Given the description of an element on the screen output the (x, y) to click on. 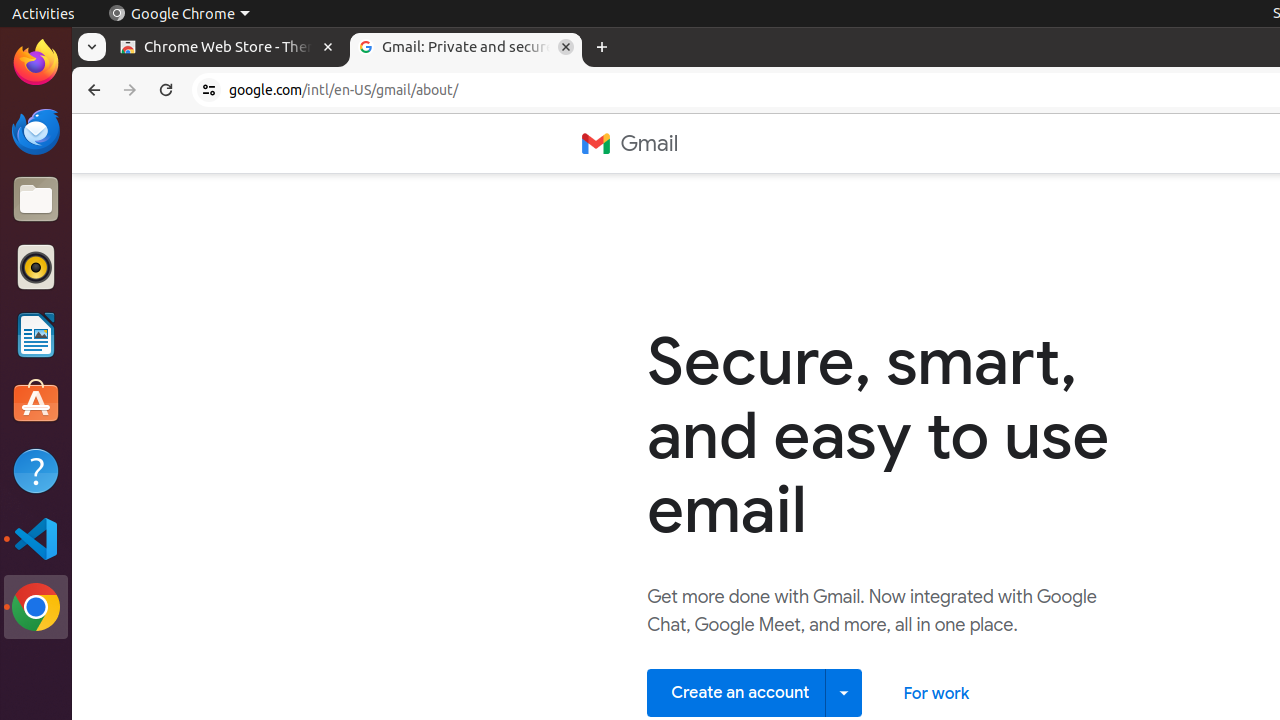
Reload Element type: push-button (166, 90)
Back Element type: push-button (91, 90)
Gmail: Private and secure email at no cost | Google Workspace - Memory usage - 111 MB Element type: page-tab (466, 47)
Help Element type: push-button (36, 470)
Gmail Element type: link (629, 144)
